Given the description of an element on the screen output the (x, y) to click on. 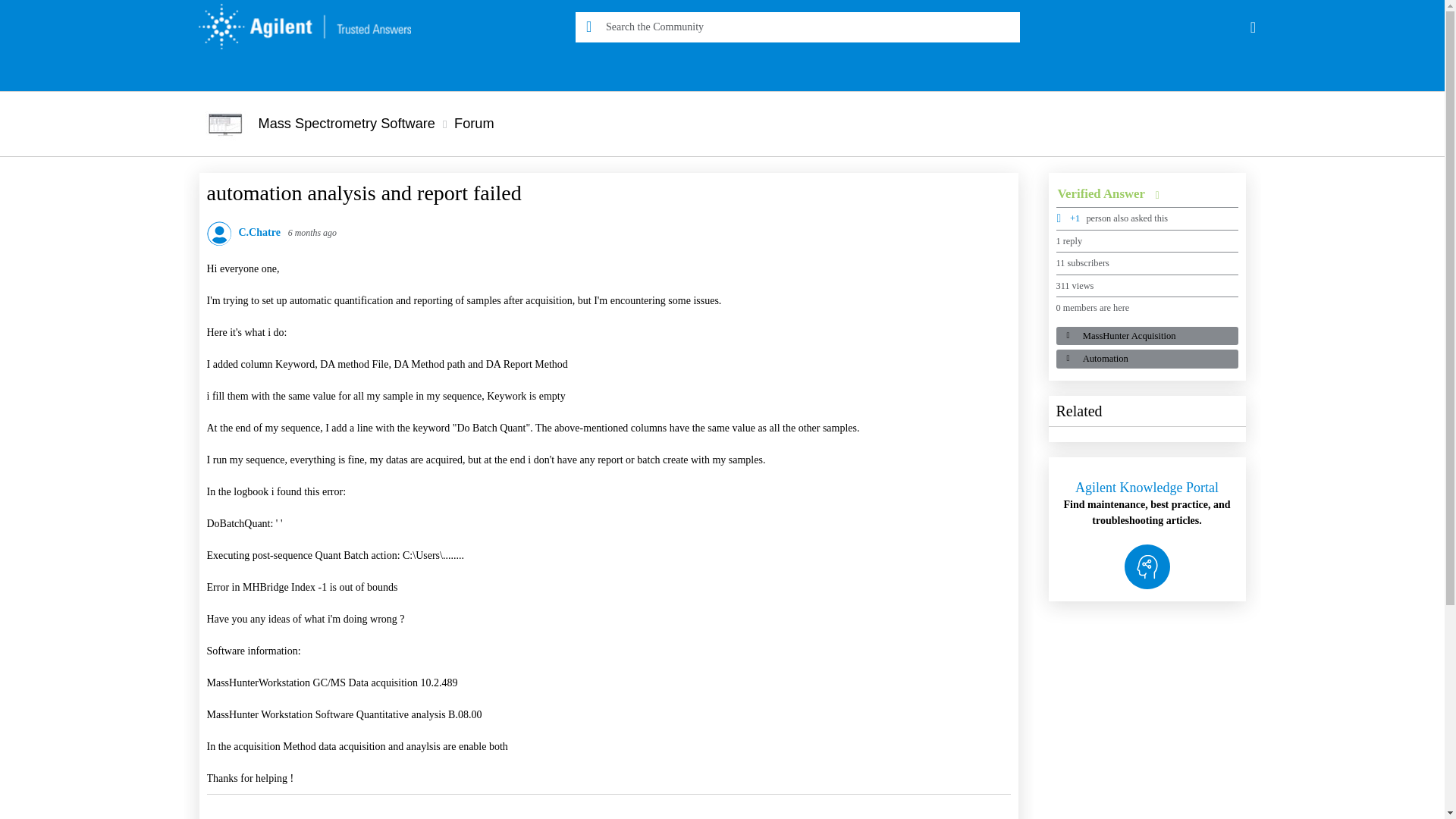
User (1252, 27)
Join or sign in (1252, 27)
Home (296, 26)
